Given the description of an element on the screen output the (x, y) to click on. 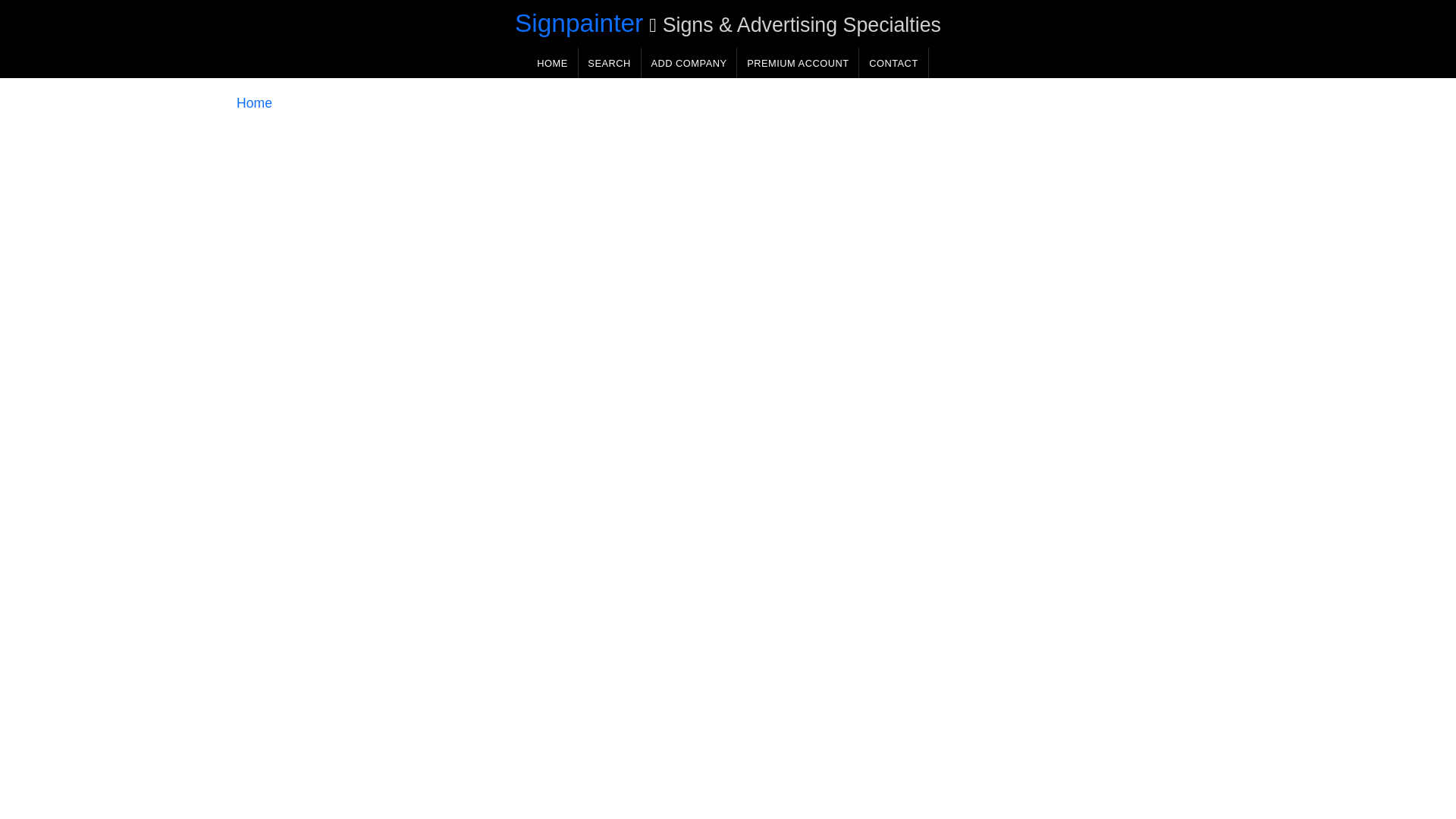
CONTACT (893, 62)
Add a new company (689, 62)
Premium account (797, 62)
Signpainter (579, 22)
PREMIUM ACCOUNT (797, 62)
Home (253, 102)
HOME (551, 62)
SEARCH (609, 62)
Search in this webseite. (609, 62)
ADD COMPANY (689, 62)
